Given the description of an element on the screen output the (x, y) to click on. 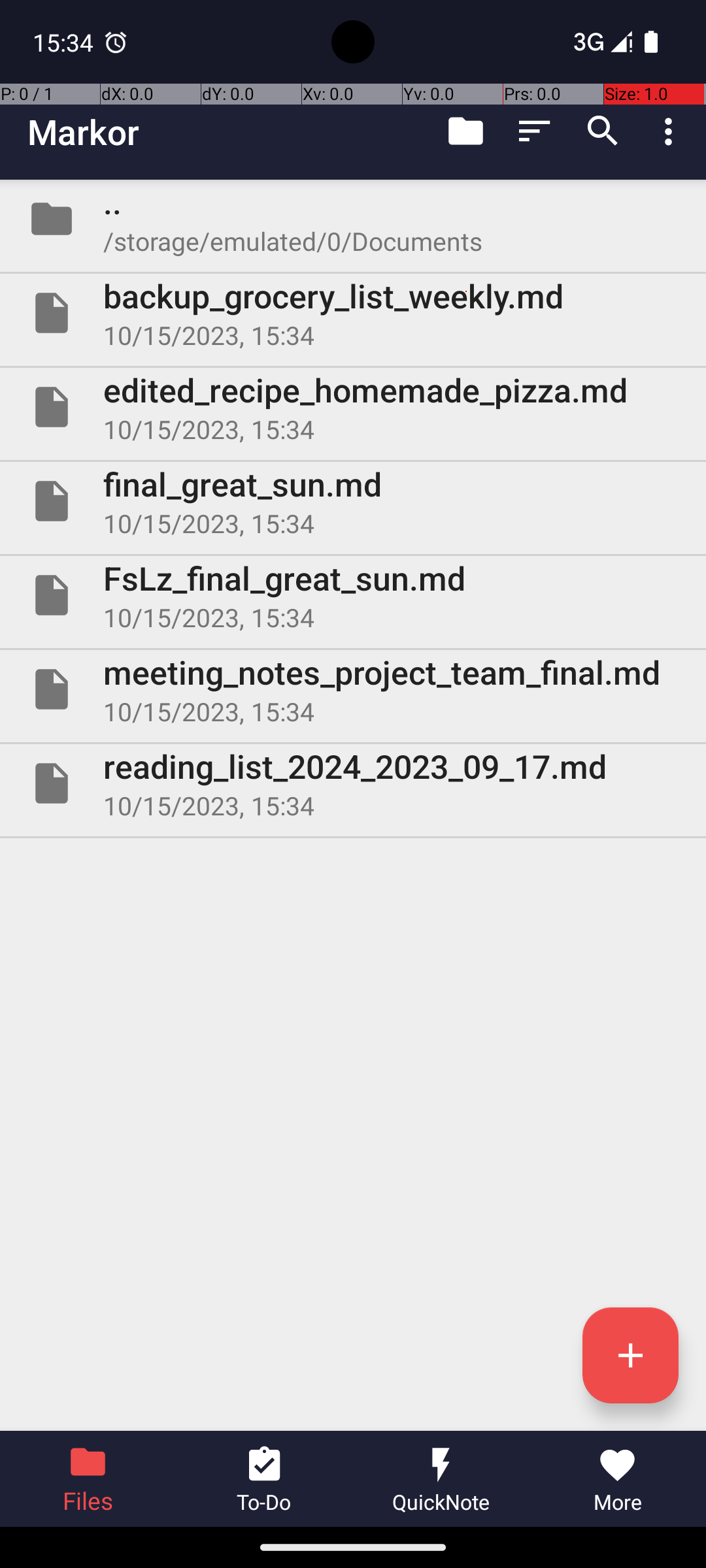
File backup_grocery_list_weekly.md  Element type: android.widget.LinearLayout (353, 312)
File edited_recipe_homemade_pizza.md  Element type: android.widget.LinearLayout (353, 406)
File final_great_sun.md  Element type: android.widget.LinearLayout (353, 500)
File FsLz_final_great_sun.md  Element type: android.widget.LinearLayout (353, 594)
File meeting_notes_project_team_final.md  Element type: android.widget.LinearLayout (353, 689)
File reading_list_2024_2023_09_17.md  Element type: android.widget.LinearLayout (353, 783)
